Given the description of an element on the screen output the (x, y) to click on. 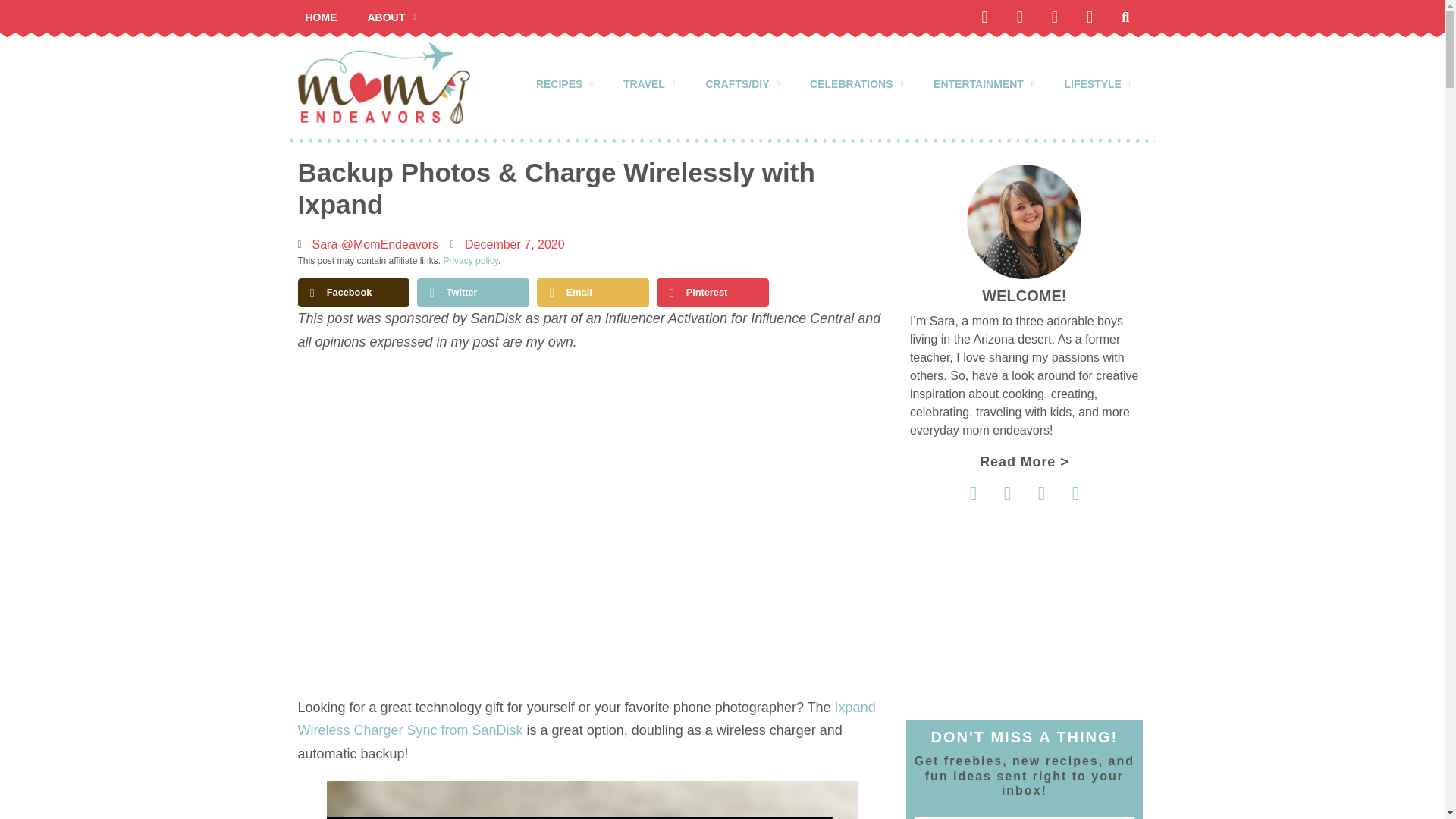
HOME (320, 17)
RECIPES (564, 83)
ABOUT (390, 17)
